Given the description of an element on the screen output the (x, y) to click on. 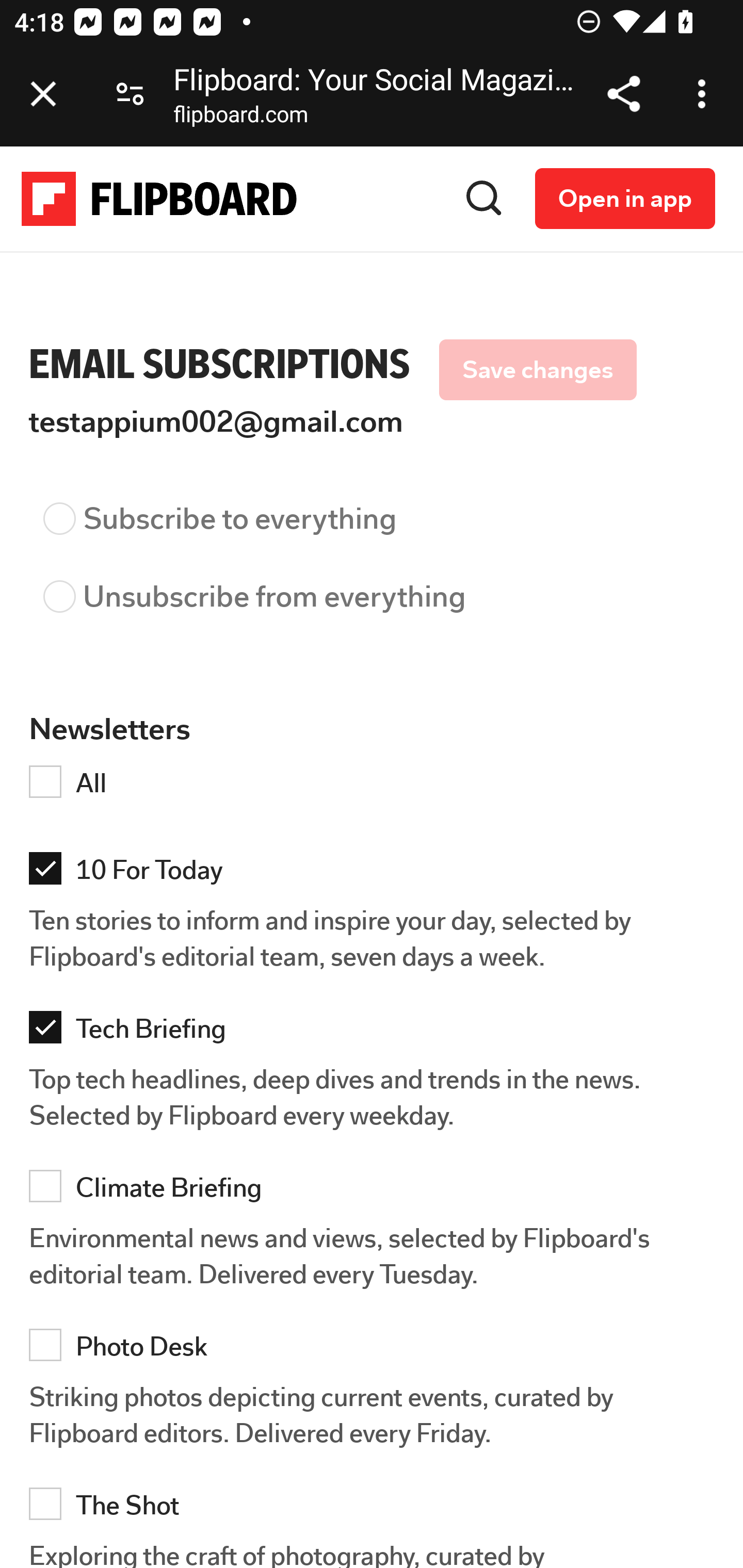
Close tab (43, 93)
Share link address (623, 93)
Customize and control Google Chrome (705, 93)
Connection is secure (129, 93)
flipboard.com (240, 117)
Open in app (625, 197)
Search (484, 198)
Save changes (536, 369)
Subscribe to everything (376, 528)
Unsubscribe from everything (376, 606)
All (376, 785)
checkmark 10 For Today (376, 872)
checkmark Tech Briefing (376, 1031)
Climate Briefing (376, 1189)
Photo Desk (376, 1348)
The Shot (376, 1508)
